Given the description of an element on the screen output the (x, y) to click on. 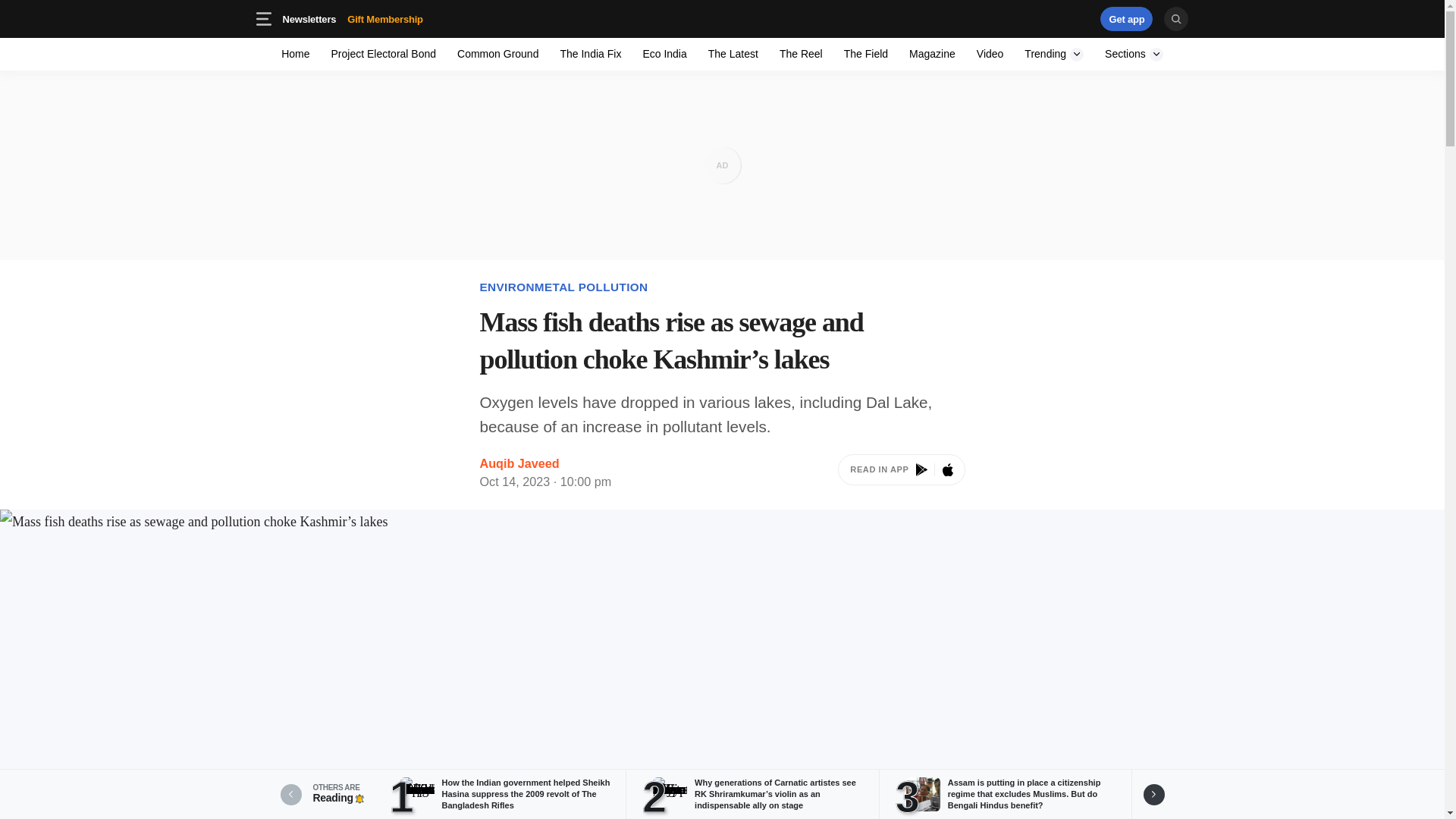
The Latest (721, 18)
Common Ground (732, 53)
Magazine (497, 53)
Newsletters (931, 53)
Project Electoral Bond (309, 18)
Home (383, 53)
Get app (295, 53)
Get app (1035, 18)
The Reel (1126, 18)
READ IN APP (800, 53)
The Field (900, 472)
Sections (409, 18)
Eco India (865, 53)
